Given the description of an element on the screen output the (x, y) to click on. 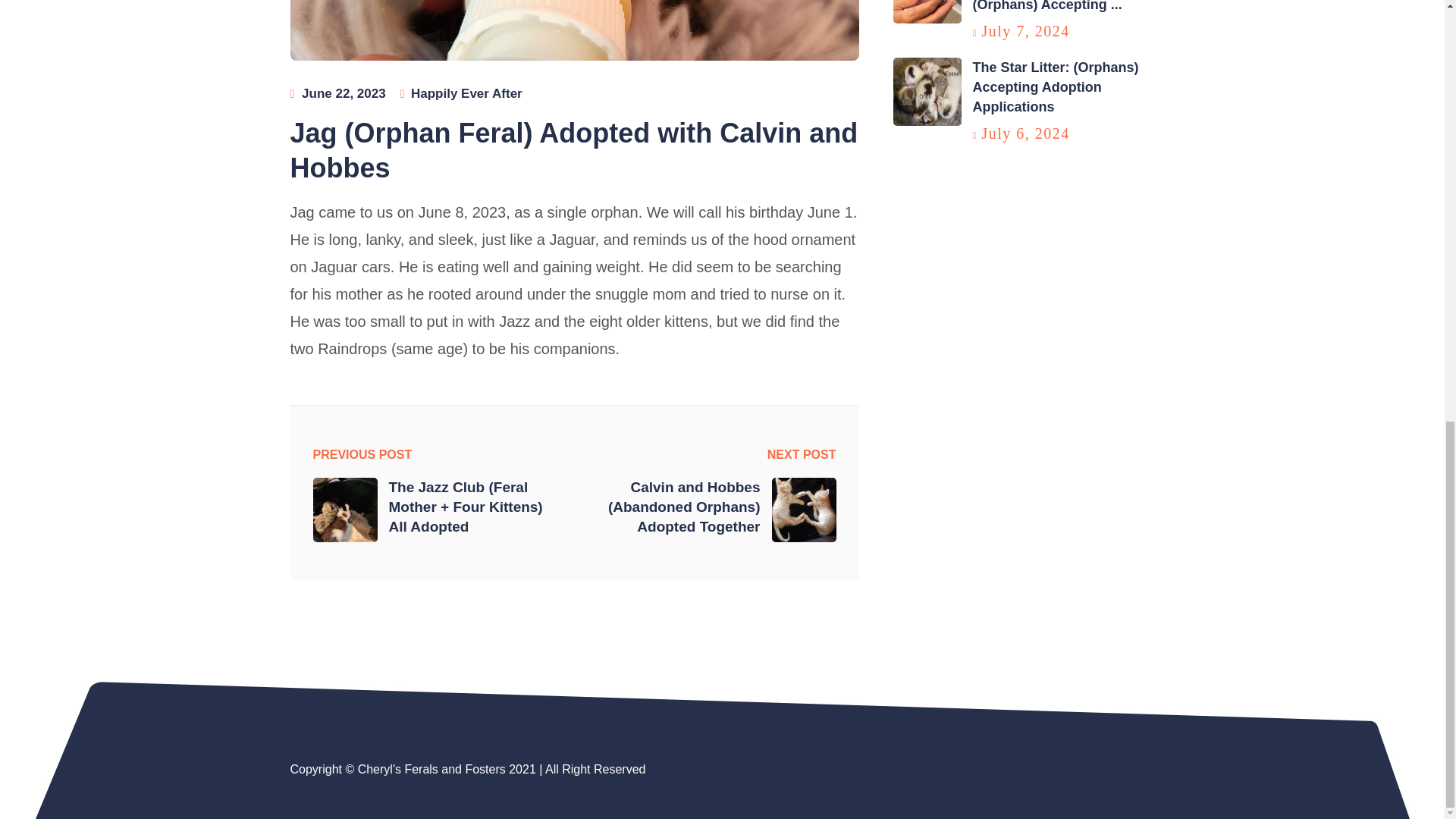
PREVIOUS POST (362, 455)
June 22, 2023 (343, 92)
July 6, 2024 (1024, 133)
NEXT POST (801, 455)
Happily Ever After (466, 92)
July 7, 2024 (1024, 30)
